Given the description of an element on the screen output the (x, y) to click on. 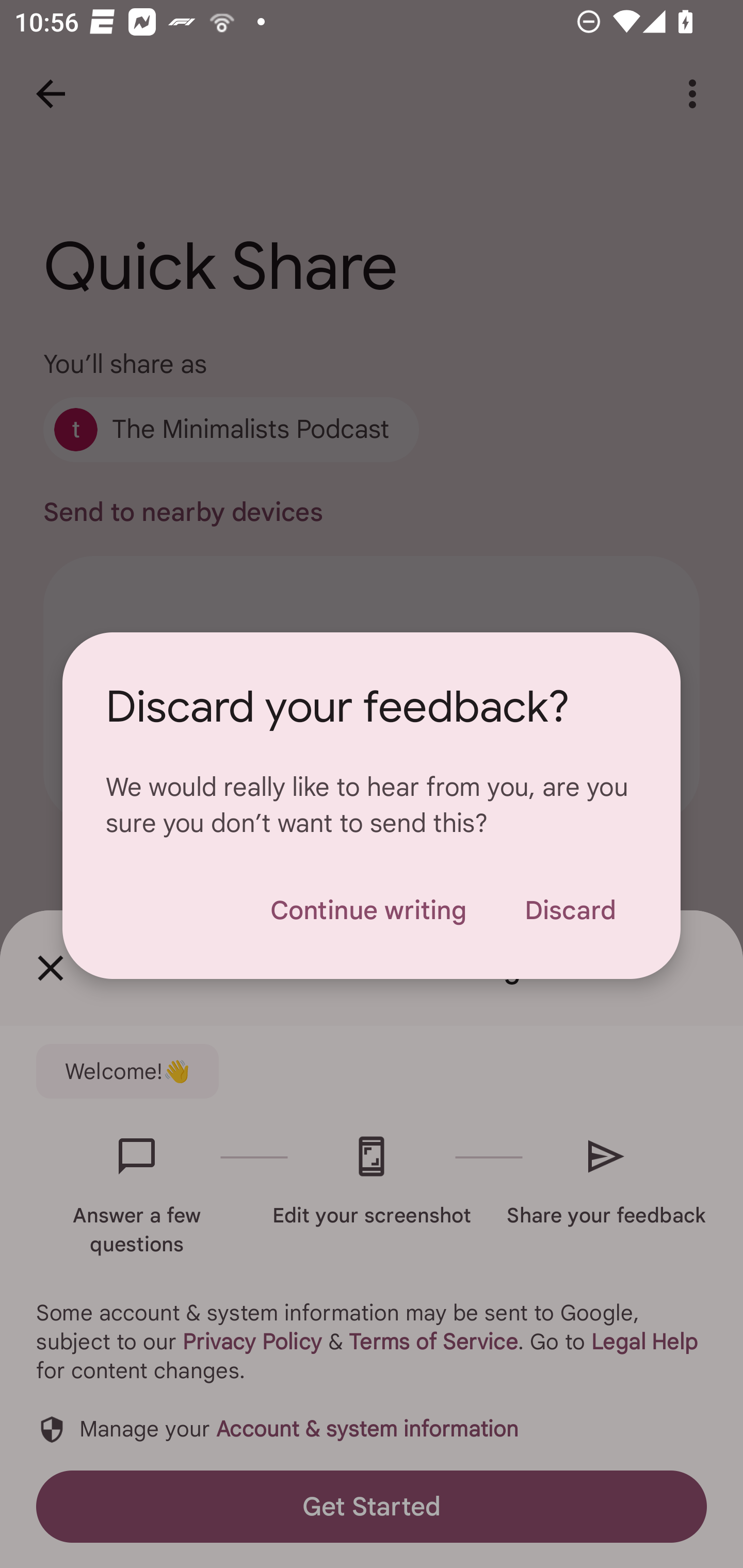
Continue writing (368, 910)
Discard (569, 910)
